Given the description of an element on the screen output the (x, y) to click on. 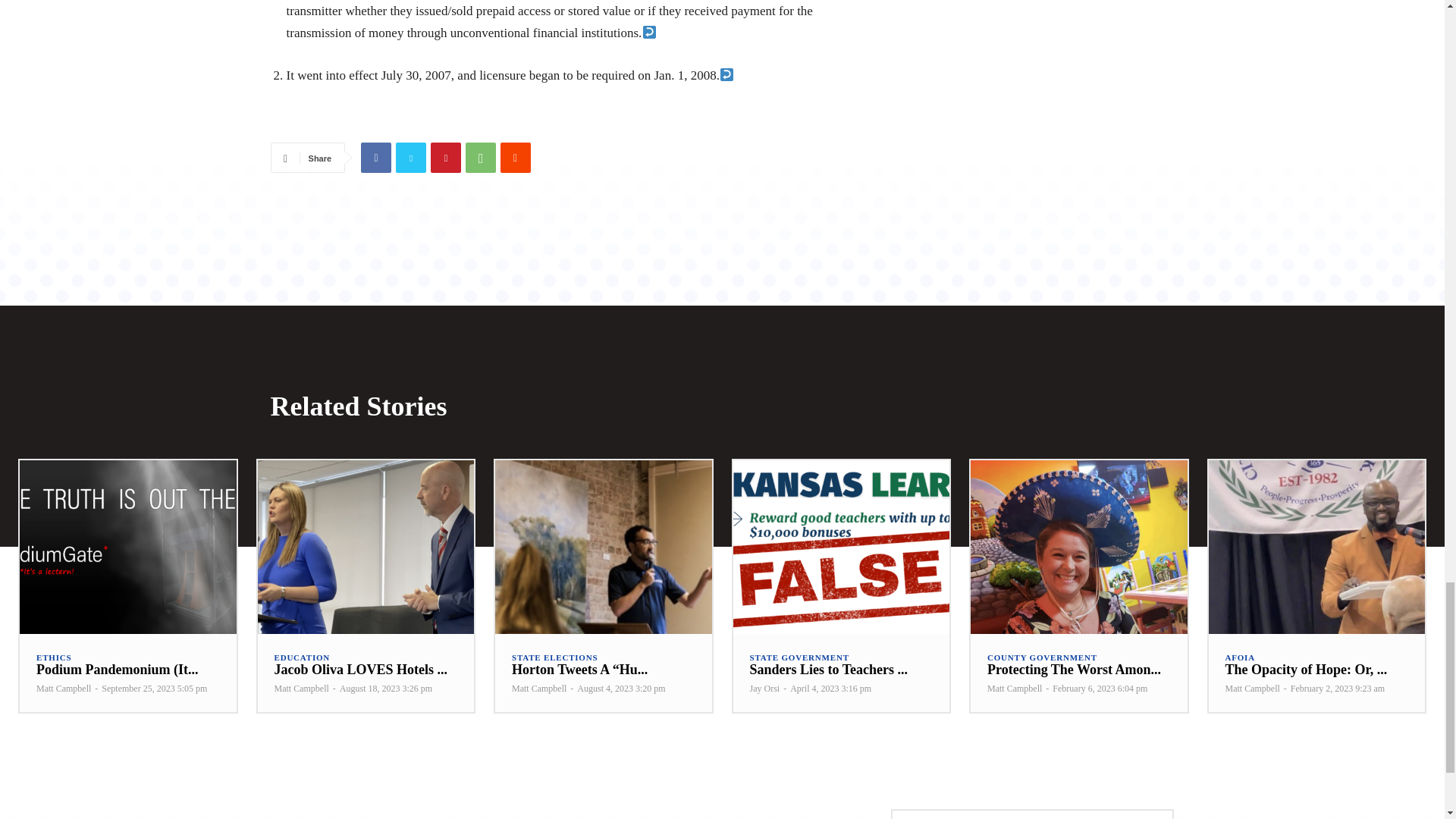
Twitter (411, 157)
Pinterest (445, 157)
Facebook (376, 157)
